Given the description of an element on the screen output the (x, y) to click on. 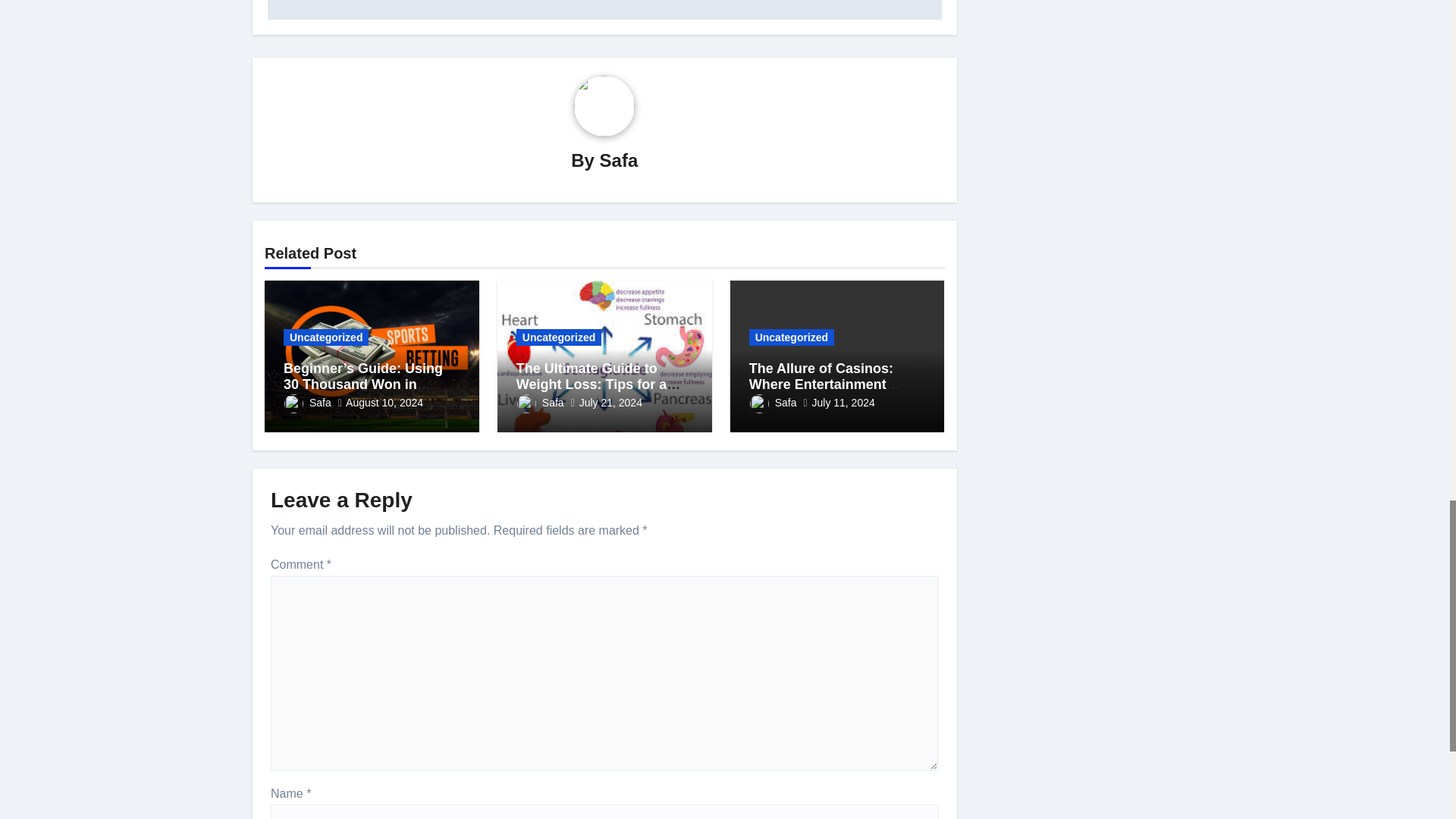
Safa (619, 159)
Uncategorized (325, 337)
Safa (307, 402)
August 10, 2024 (384, 402)
